Given the description of an element on the screen output the (x, y) to click on. 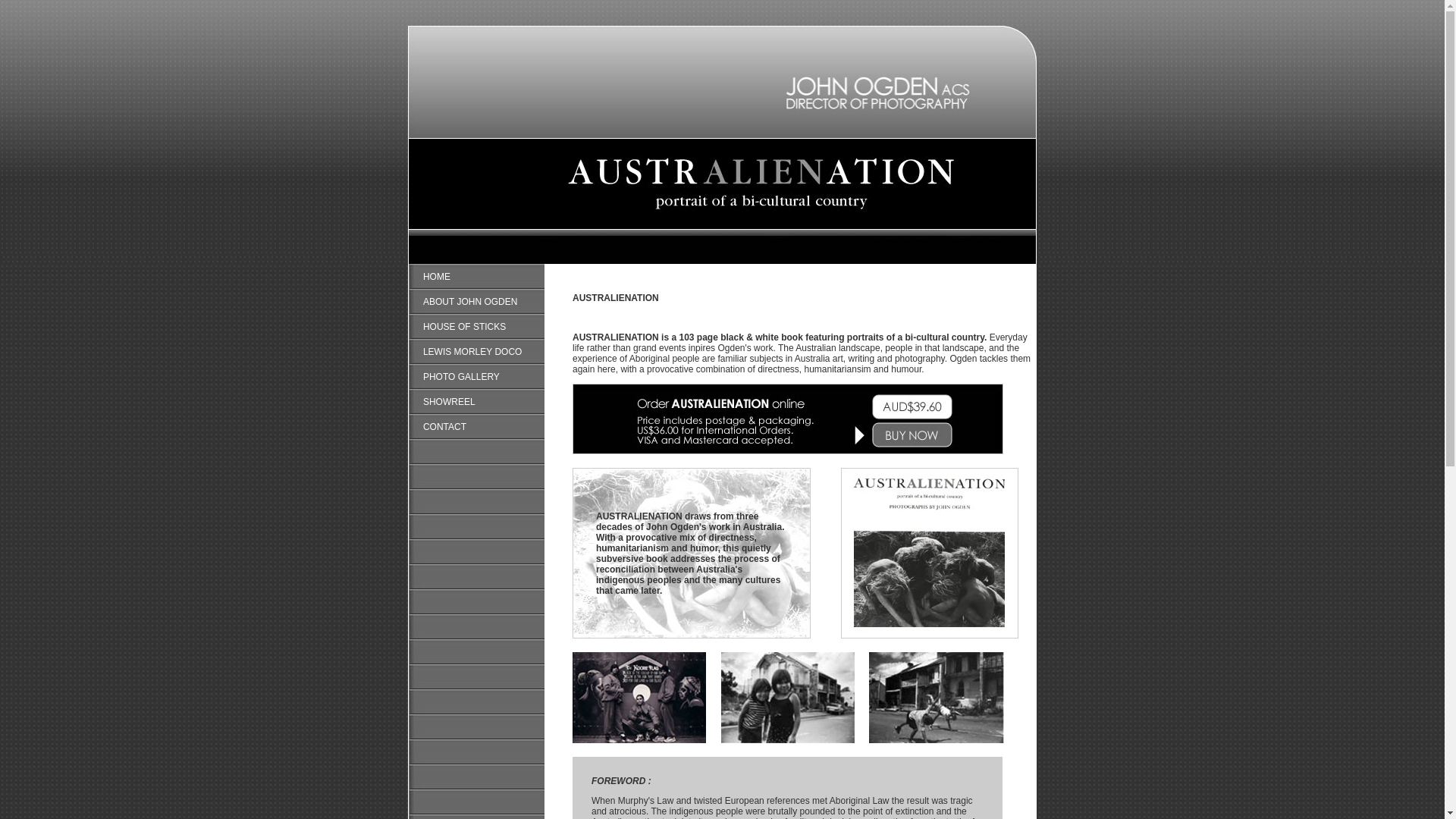
PHOTO GALLERY Element type: text (461, 376)
LEWIS MORLEY DOCO Element type: text (472, 350)
SHOWREEL Element type: text (449, 400)
CONTACT Element type: text (444, 426)
ABOUT JOHN OGDEN Element type: text (470, 300)
HOME Element type: text (436, 276)
HOUSE OF STICKS Element type: text (464, 326)
